Given the description of an element on the screen output the (x, y) to click on. 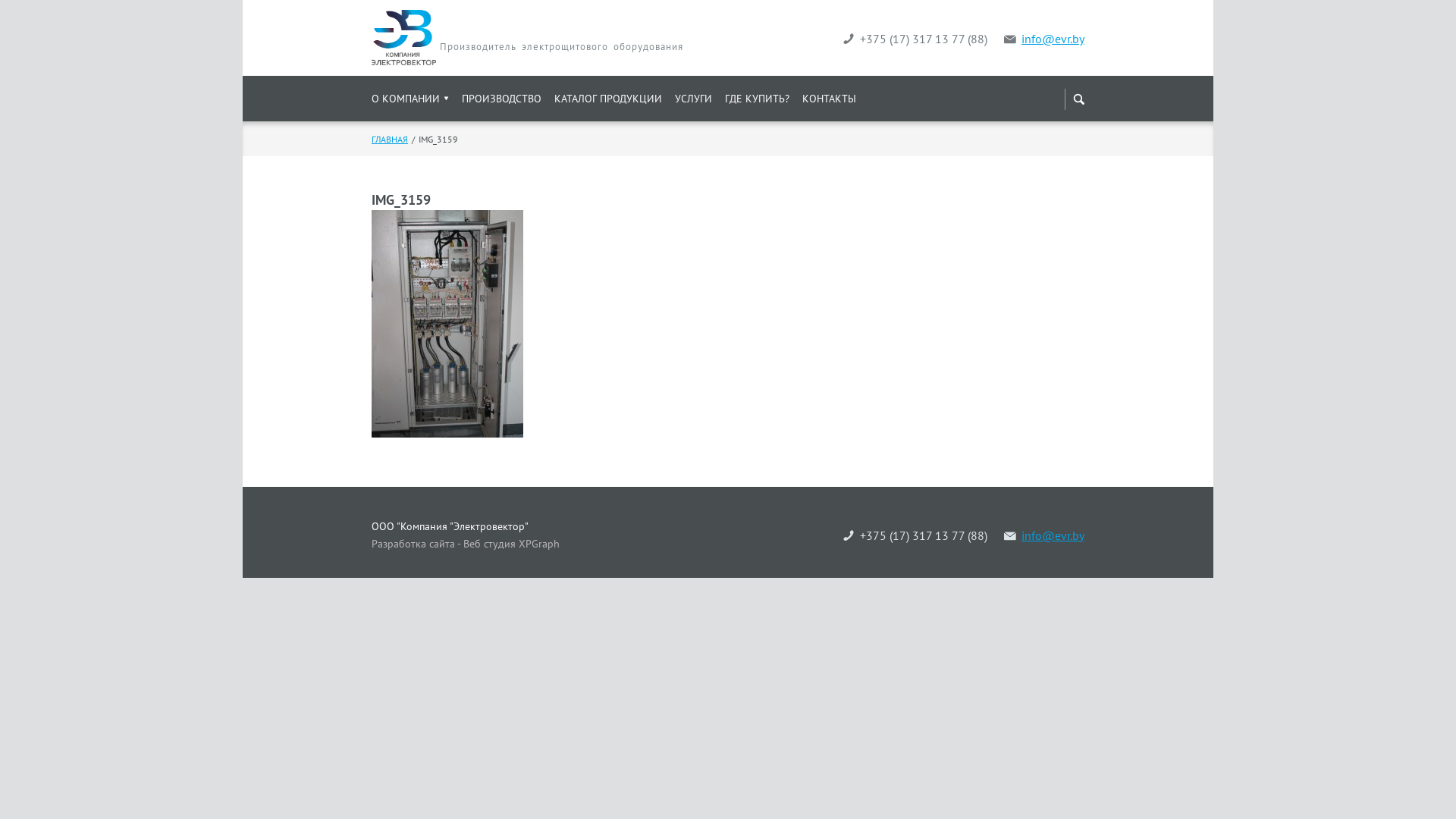
info@evr.by Element type: text (1044, 535)
info@evr.by Element type: text (1044, 38)
